Given the description of an element on the screen output the (x, y) to click on. 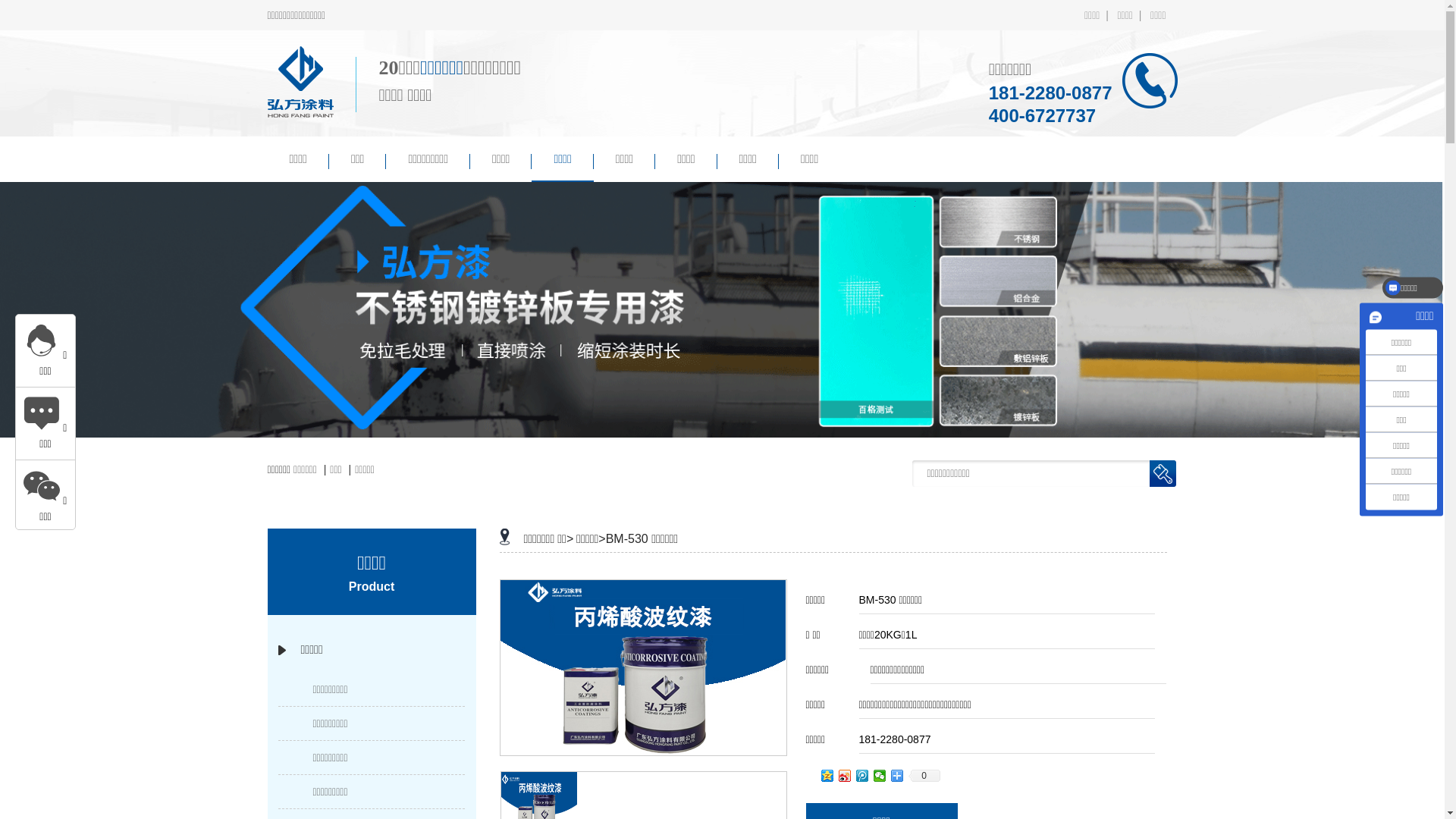
0 Element type: text (924, 775)
